Given the description of an element on the screen output the (x, y) to click on. 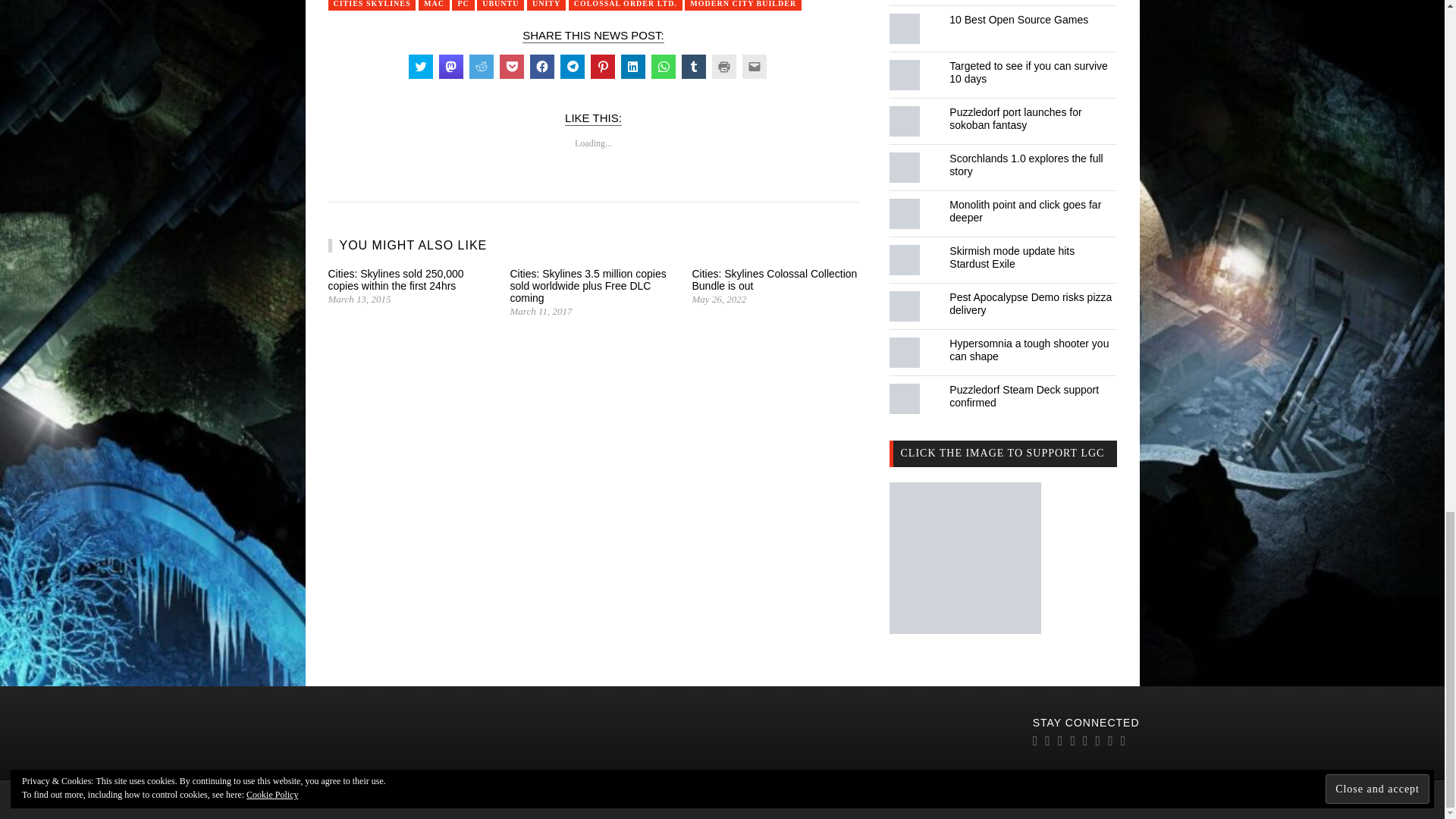
Click to share on Reddit (480, 66)
Click to share on WhatsApp (662, 66)
Click to share on Twitter (419, 66)
Click to share on Telegram (571, 66)
Click to print (723, 66)
COLOSSAL ORDER LTD. (625, 5)
CITIES SKYLINES (370, 5)
Click to share on Pocket (510, 66)
UNITY (546, 5)
Click to share on Facebook (541, 66)
MAC (434, 5)
Click to share on LinkedIn (632, 66)
Click to share on Tumblr (692, 66)
Click to share on Pinterest (601, 66)
Click to email a link to a friend (753, 66)
